Given the description of an element on the screen output the (x, y) to click on. 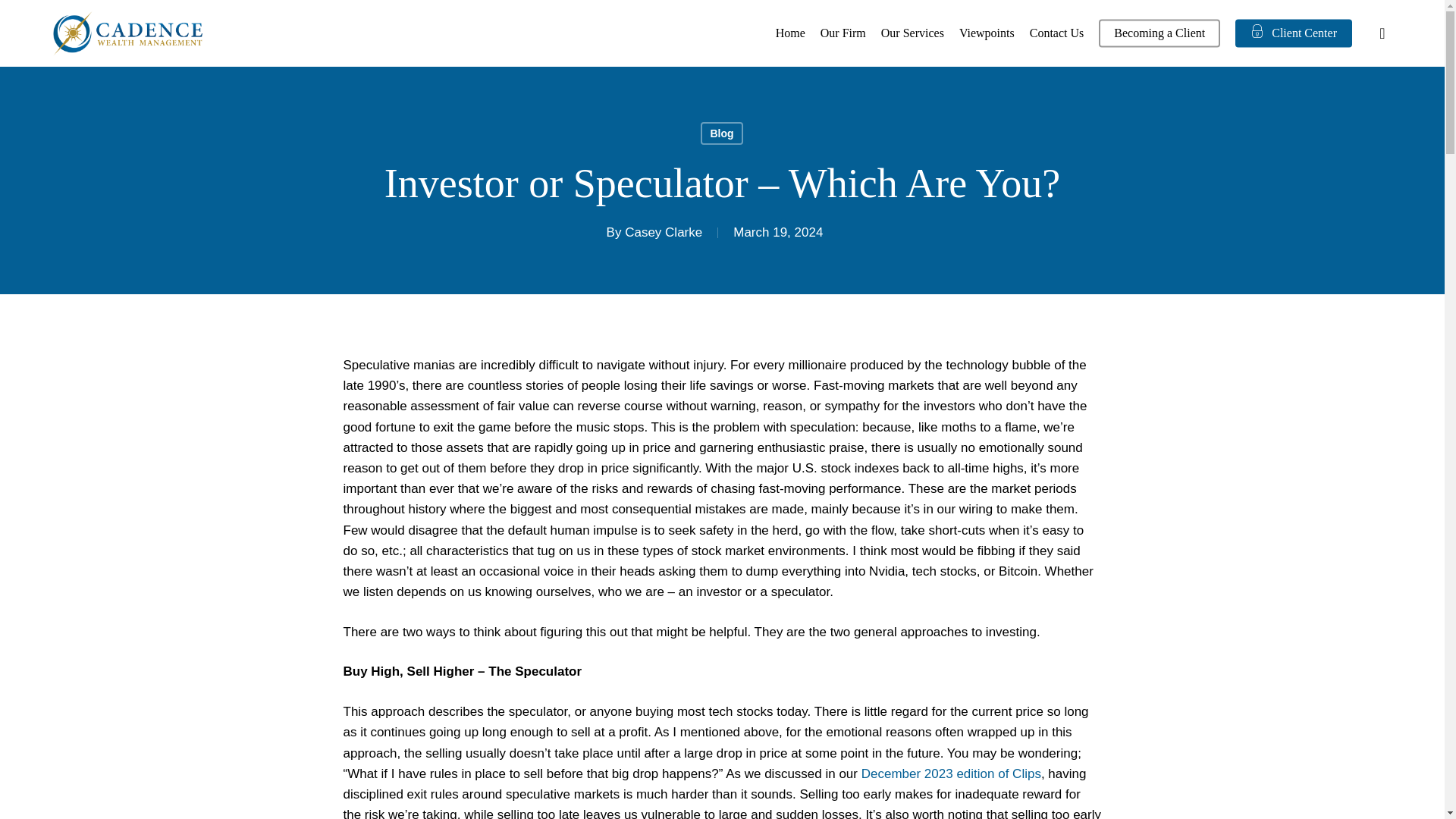
Home (790, 33)
Blog (721, 133)
Viewpoints (986, 33)
Client Center (1293, 33)
Becoming a Client (1159, 33)
search (1382, 33)
December 2023 edition of Clips (951, 773)
Casey Clarke (662, 232)
Contact Us (1056, 33)
Our Services (911, 33)
Posts by Casey Clarke (662, 232)
Our Firm (843, 33)
